Given the description of an element on the screen output the (x, y) to click on. 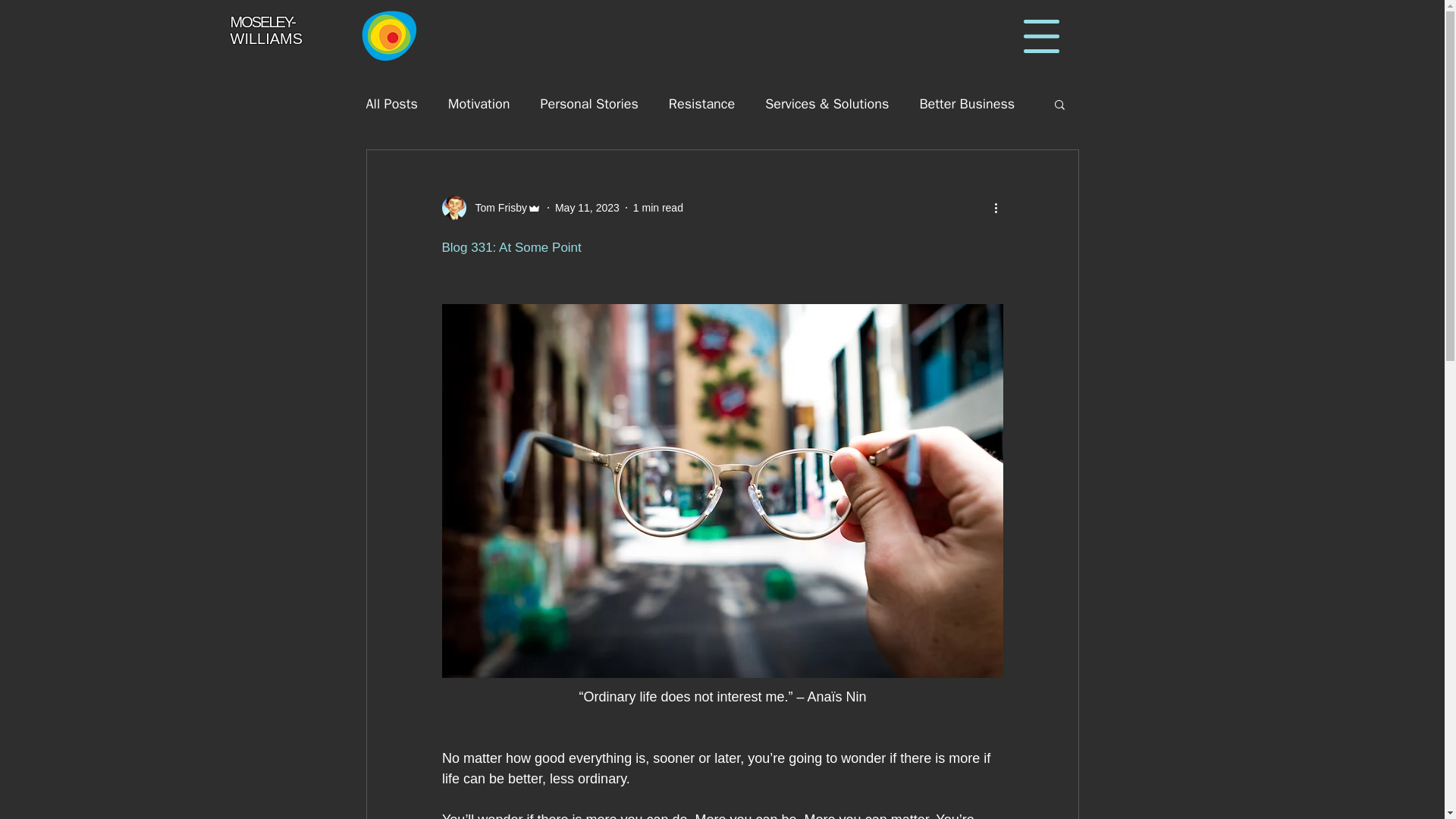
Resistance (701, 104)
All Posts (390, 104)
Better Business (966, 104)
Tom Frisby (490, 207)
WILLIAMS (266, 38)
Motivation (479, 104)
MOSELEY- (262, 21)
Personal Stories (588, 104)
May 11, 2023 (587, 207)
1 min read (657, 207)
Tom Frisby (495, 207)
